Given the description of an element on the screen output the (x, y) to click on. 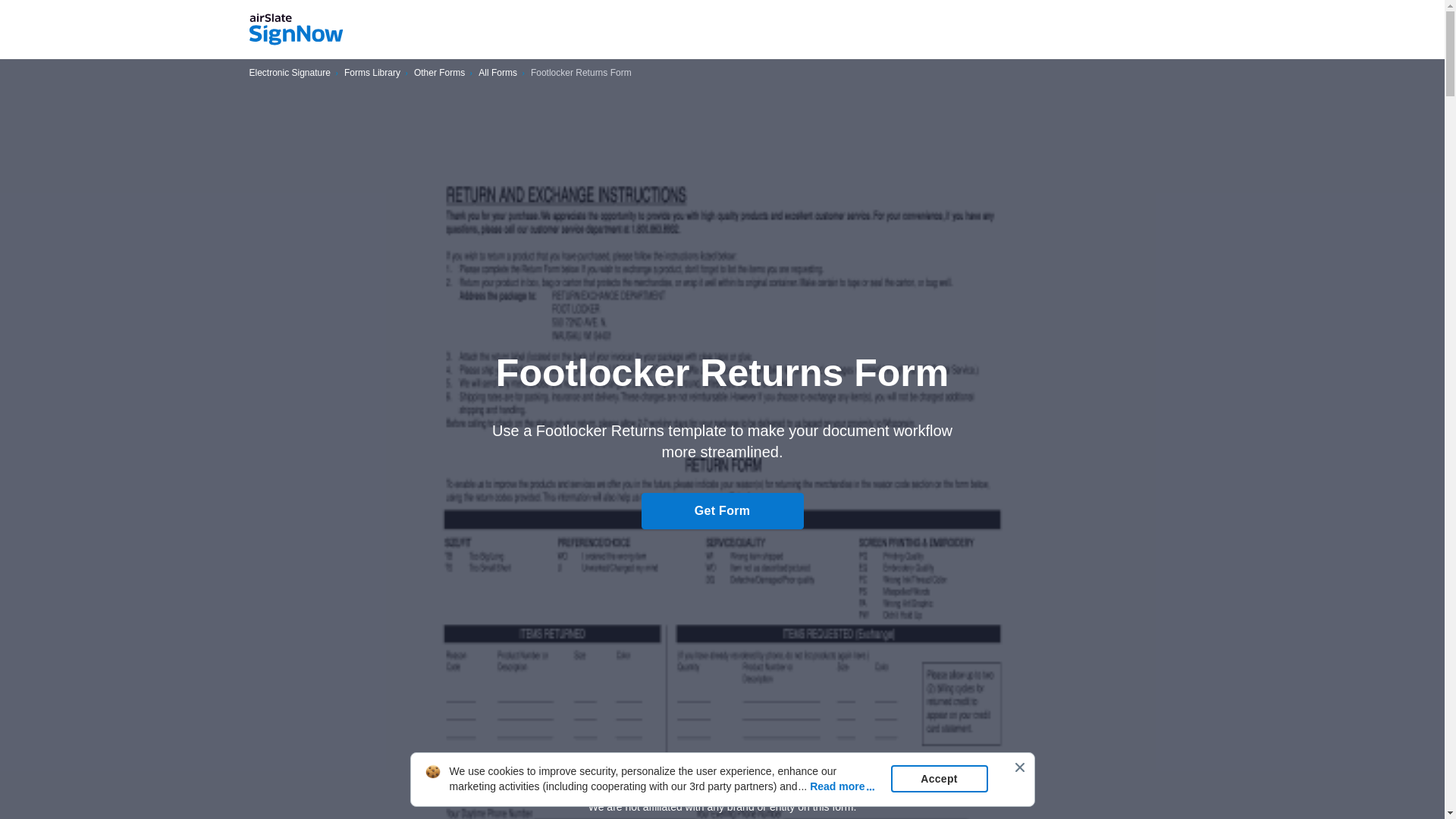
Electronic Signature (289, 73)
signNow (295, 29)
All Forms (497, 73)
Get Form (722, 511)
Other Forms (438, 73)
Forms Library (371, 73)
Show details (722, 780)
